Given the description of an element on the screen output the (x, y) to click on. 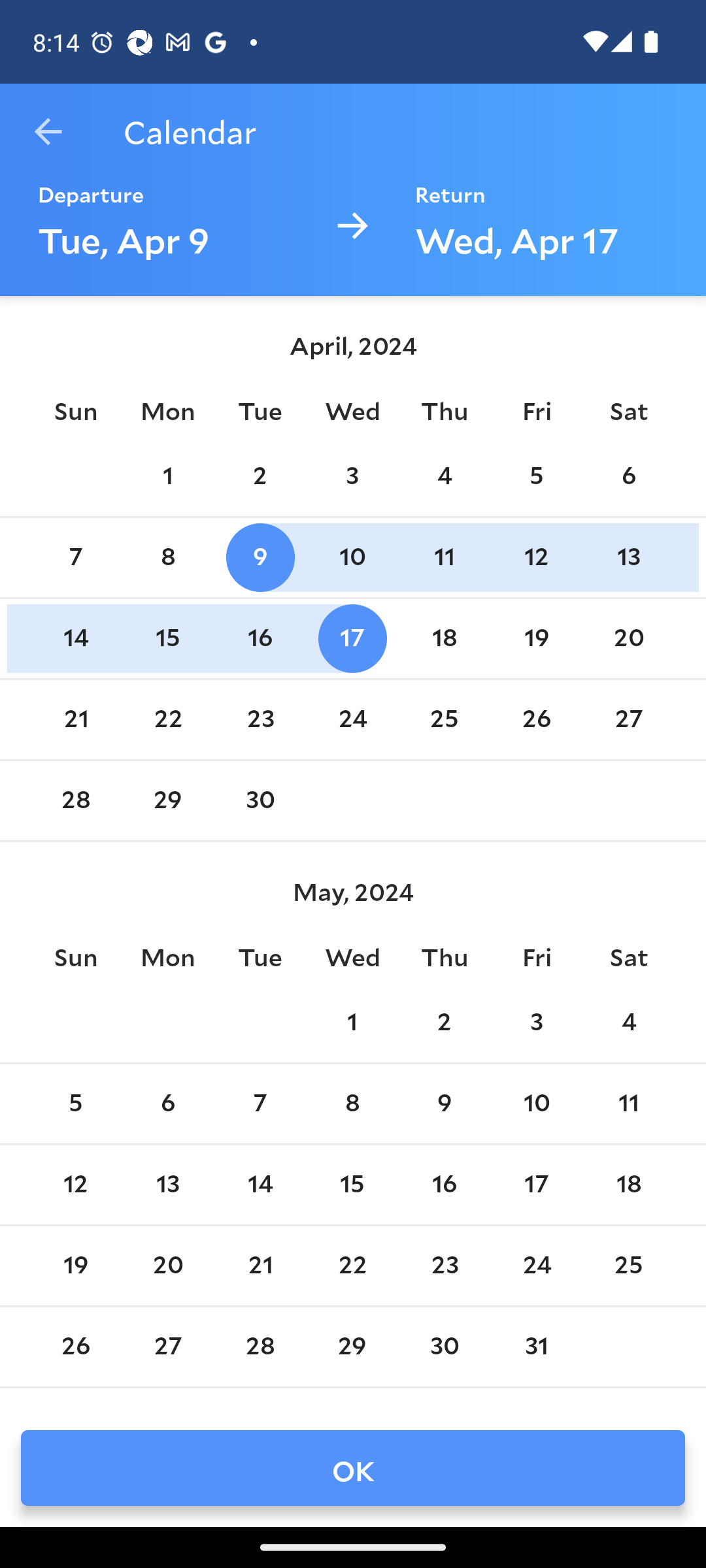
Navigate up (48, 131)
1 (168, 476)
2 (260, 476)
3 (352, 476)
4 (444, 476)
5 (536, 476)
6 (629, 476)
7 (75, 557)
8 (168, 557)
9 (260, 557)
10 (352, 557)
11 (444, 557)
12 (536, 557)
13 (629, 557)
14 (75, 637)
15 (168, 637)
16 (260, 637)
17 (352, 637)
18 (444, 637)
19 (536, 637)
20 (629, 637)
21 (75, 719)
22 (168, 719)
23 (260, 719)
24 (352, 719)
25 (444, 719)
26 (536, 719)
27 (629, 719)
28 (75, 800)
29 (168, 800)
30 (260, 800)
1 (352, 1021)
2 (444, 1021)
3 (536, 1021)
4 (629, 1021)
5 (75, 1103)
6 (168, 1103)
7 (260, 1103)
8 (352, 1103)
9 (444, 1103)
10 (536, 1103)
11 (629, 1103)
12 (75, 1184)
13 (168, 1184)
14 (260, 1184)
15 (352, 1184)
16 (444, 1184)
17 (536, 1184)
18 (629, 1184)
19 (75, 1264)
20 (168, 1264)
21 (260, 1264)
22 (352, 1264)
23 (444, 1264)
24 (536, 1264)
25 (629, 1264)
26 (75, 1346)
27 (168, 1346)
28 (260, 1346)
29 (352, 1346)
30 (444, 1346)
31 (536, 1346)
OK (352, 1467)
